Given the description of an element on the screen output the (x, y) to click on. 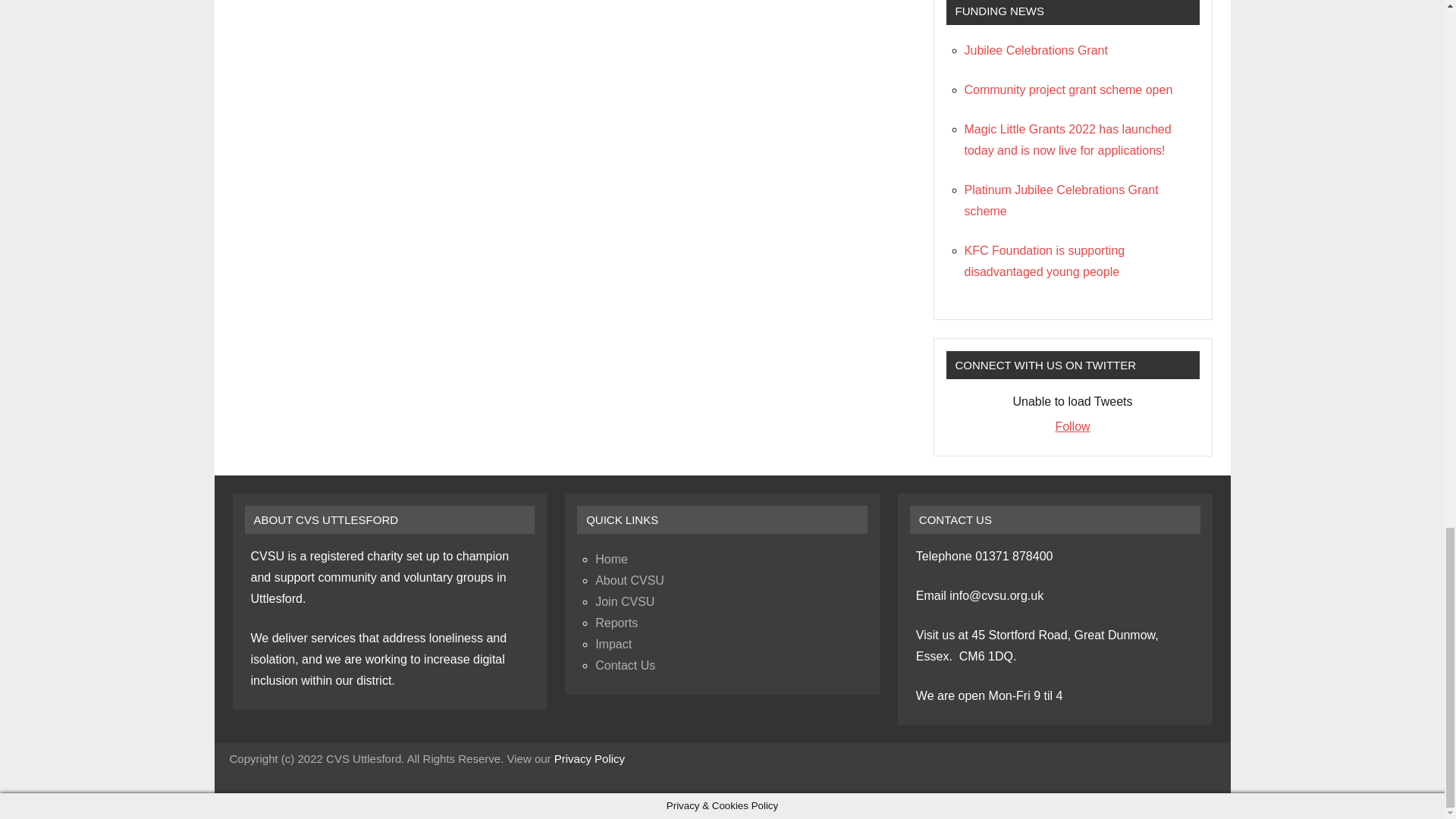
Community project grant scheme open (1068, 89)
Jubilee Celebrations Grant (1035, 50)
KFC Foundation is supporting disadvantaged young people (1044, 261)
Platinum Jubilee Celebrations Grant scheme (1060, 200)
